Given the description of an element on the screen output the (x, y) to click on. 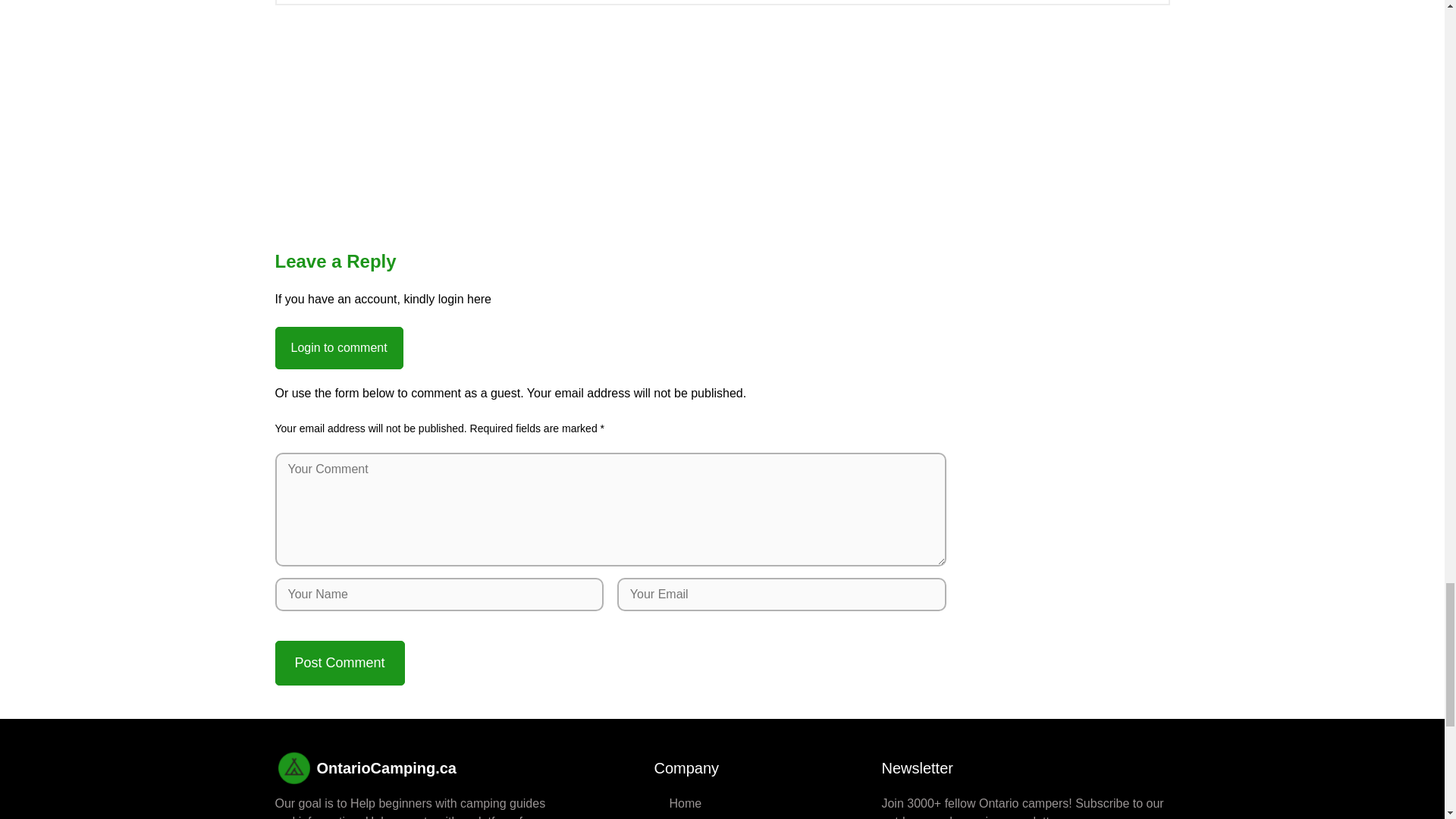
Post Comment (339, 662)
